Given the description of an element on the screen output the (x, y) to click on. 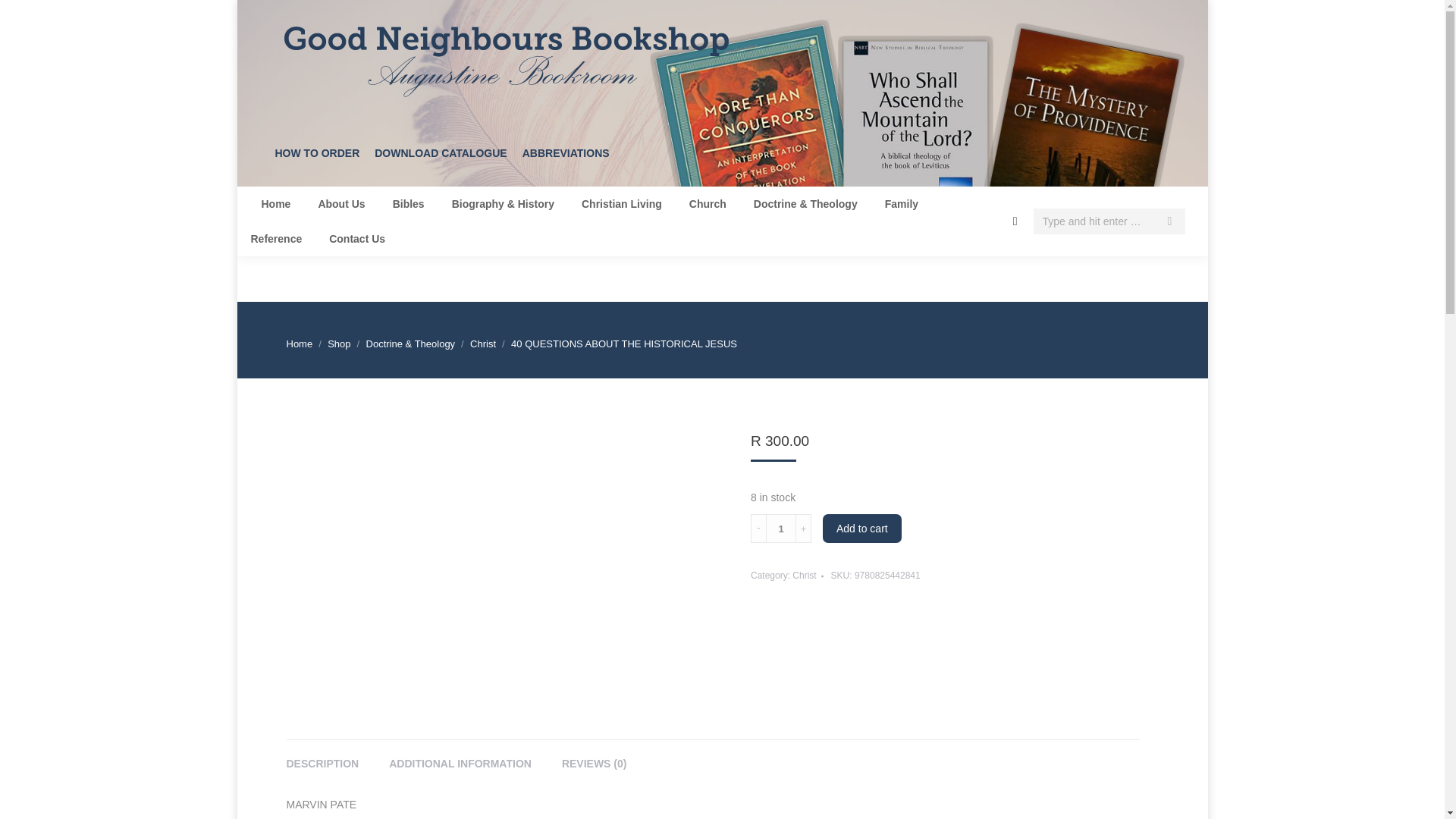
ABBREVIATIONS (566, 160)
Christ (483, 343)
About Us (341, 203)
Shop (338, 343)
Bibles (409, 203)
1 (780, 528)
Qty (780, 528)
HOW TO ORDER (316, 160)
DOWNLOAD CATALOGUE (439, 160)
Home (299, 343)
Home (275, 203)
